Given the description of an element on the screen output the (x, y) to click on. 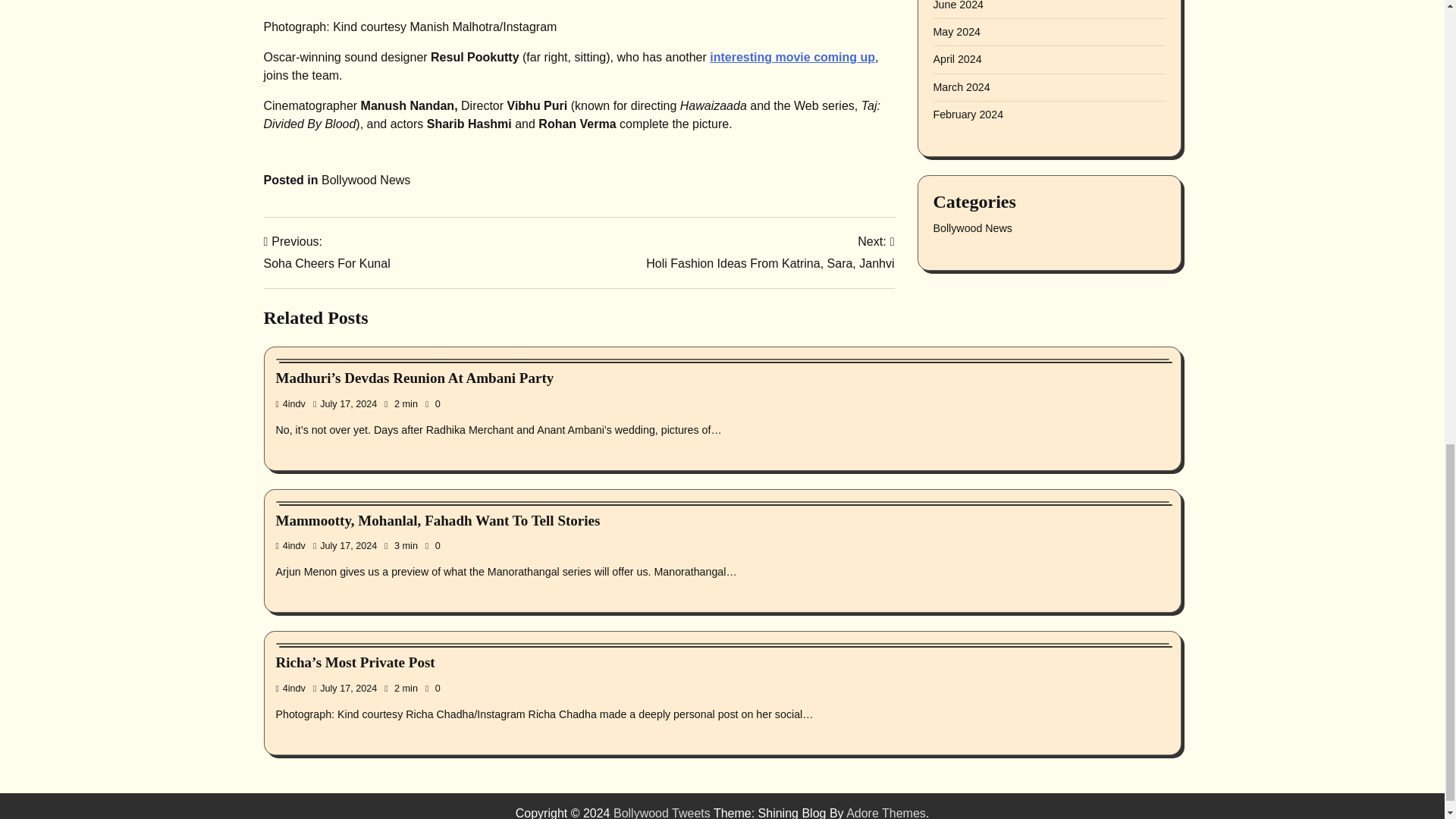
Bollywood News (365, 179)
4indv (290, 688)
4indv (290, 403)
interesting movie coming up (792, 56)
Mammootty, Mohanlal, Fahadh Want To Tell Stories (437, 520)
4indv (769, 252)
